Given the description of an element on the screen output the (x, y) to click on. 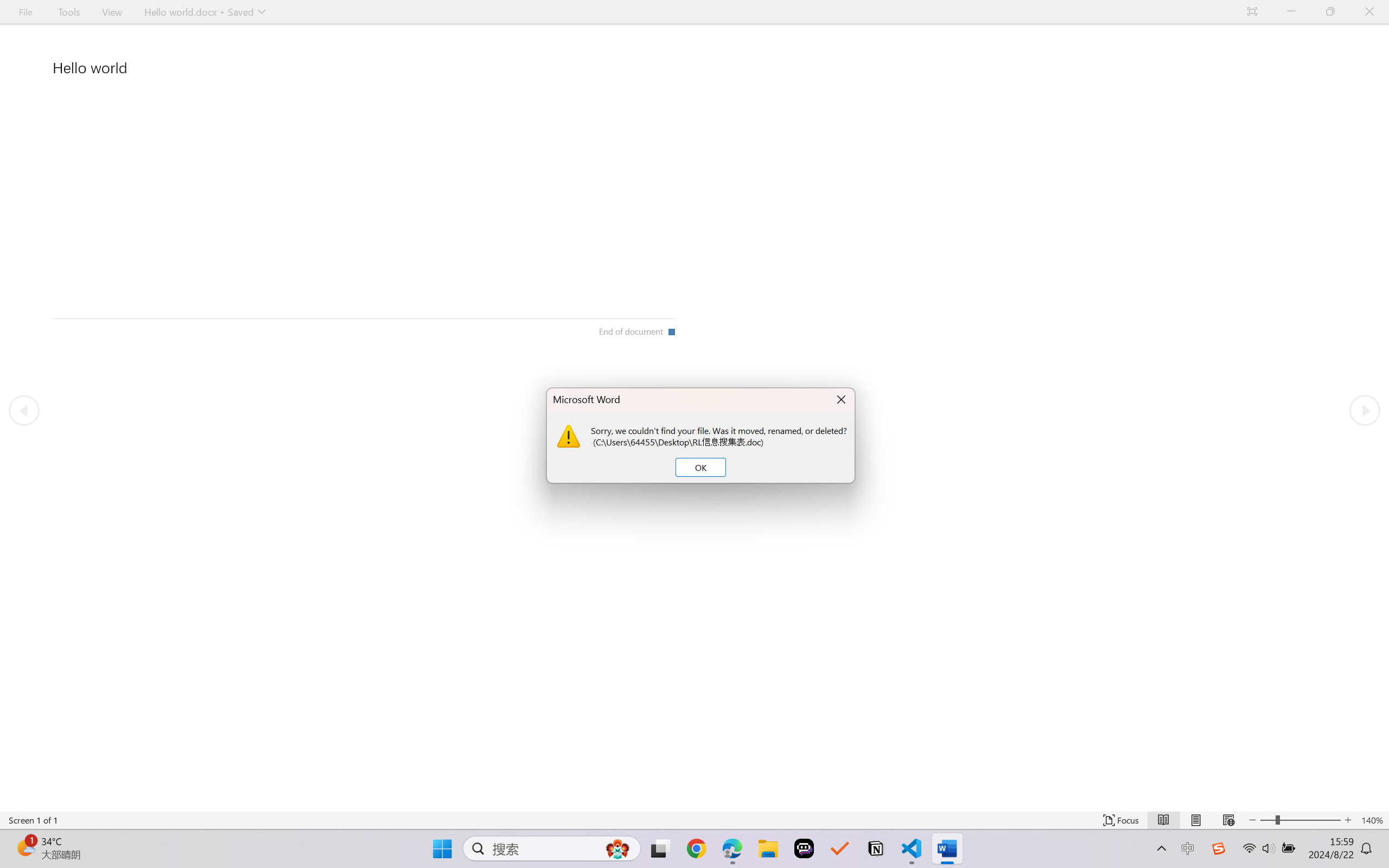
Google Chrome (696, 848)
Class: MsoCommandBar (694, 819)
AutomationID: BadgeAnchorLargeTicker (24, 847)
Notion (875, 848)
Page Number Screen 1 of 1  (32, 819)
Print Layout (1196, 819)
Restore Down (1330, 11)
AutomationID: DynamicSearchBoxGleamImage (617, 848)
Focus  (1121, 819)
